Given the description of an element on the screen output the (x, y) to click on. 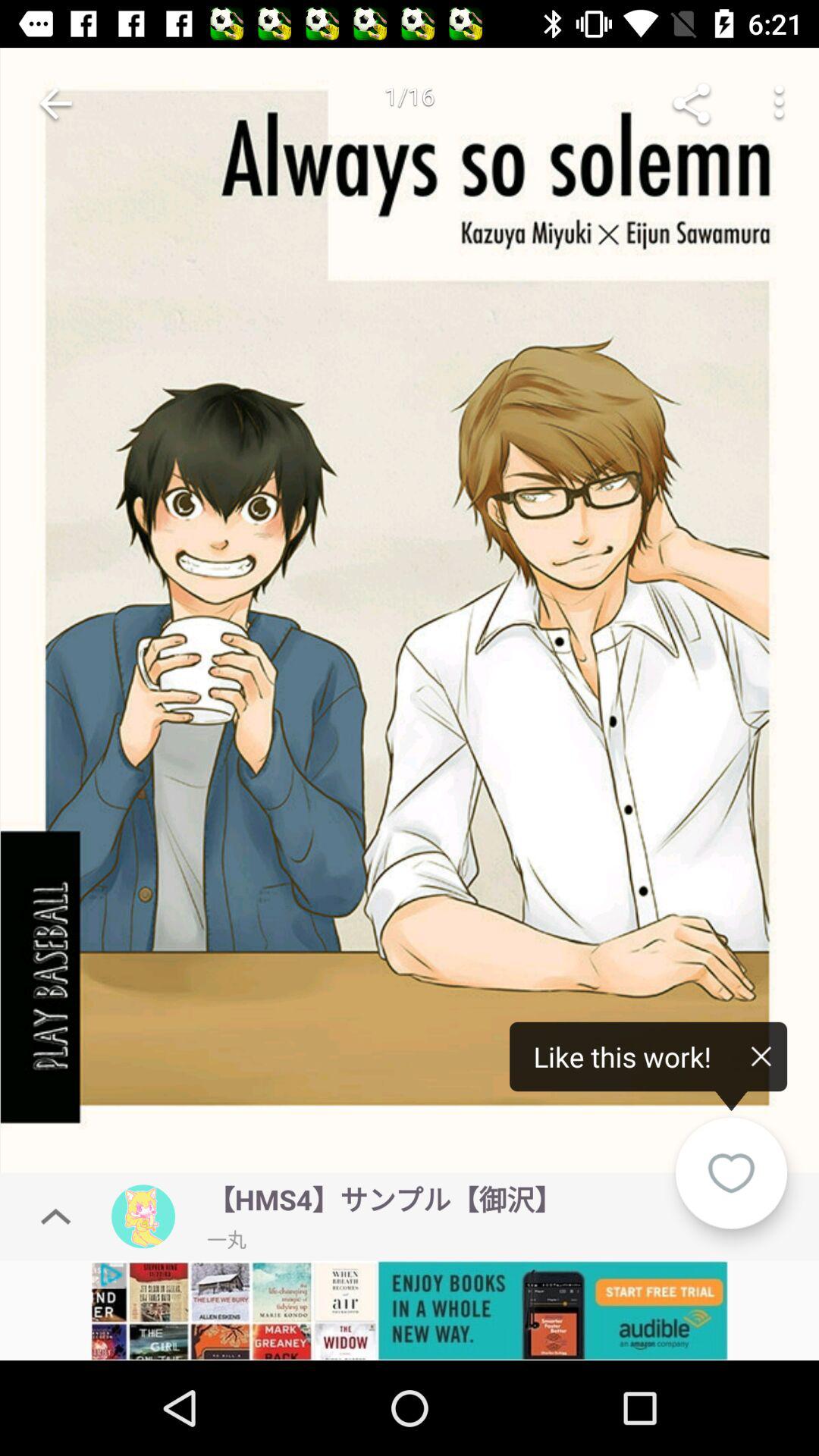
user avatar (143, 1216)
